Given the description of an element on the screen output the (x, y) to click on. 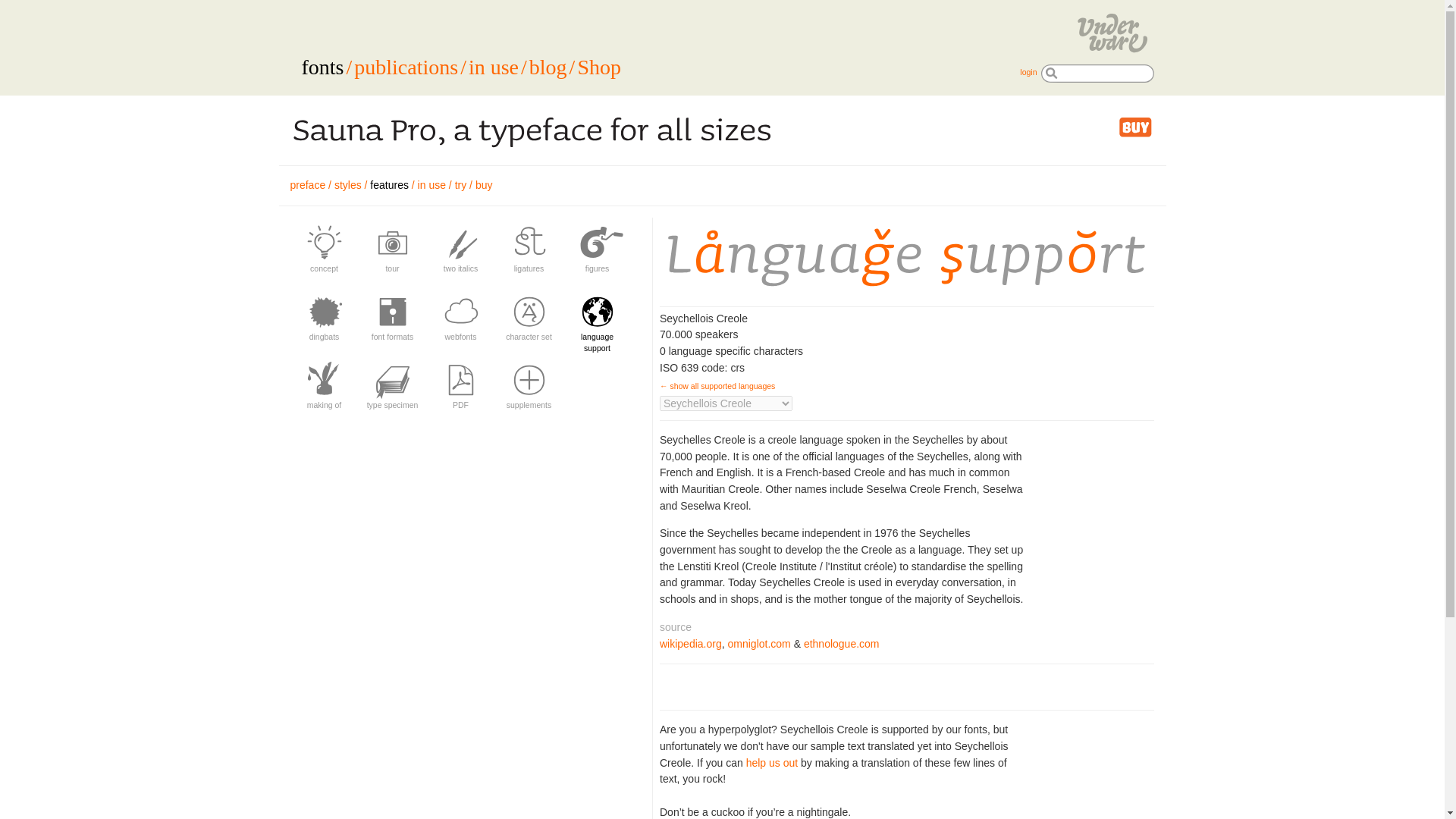
in use (493, 66)
publications (405, 66)
blog (548, 66)
preface (306, 184)
styles (347, 184)
login (1028, 71)
fonts (322, 66)
Shop (598, 66)
